Given the description of an element on the screen output the (x, y) to click on. 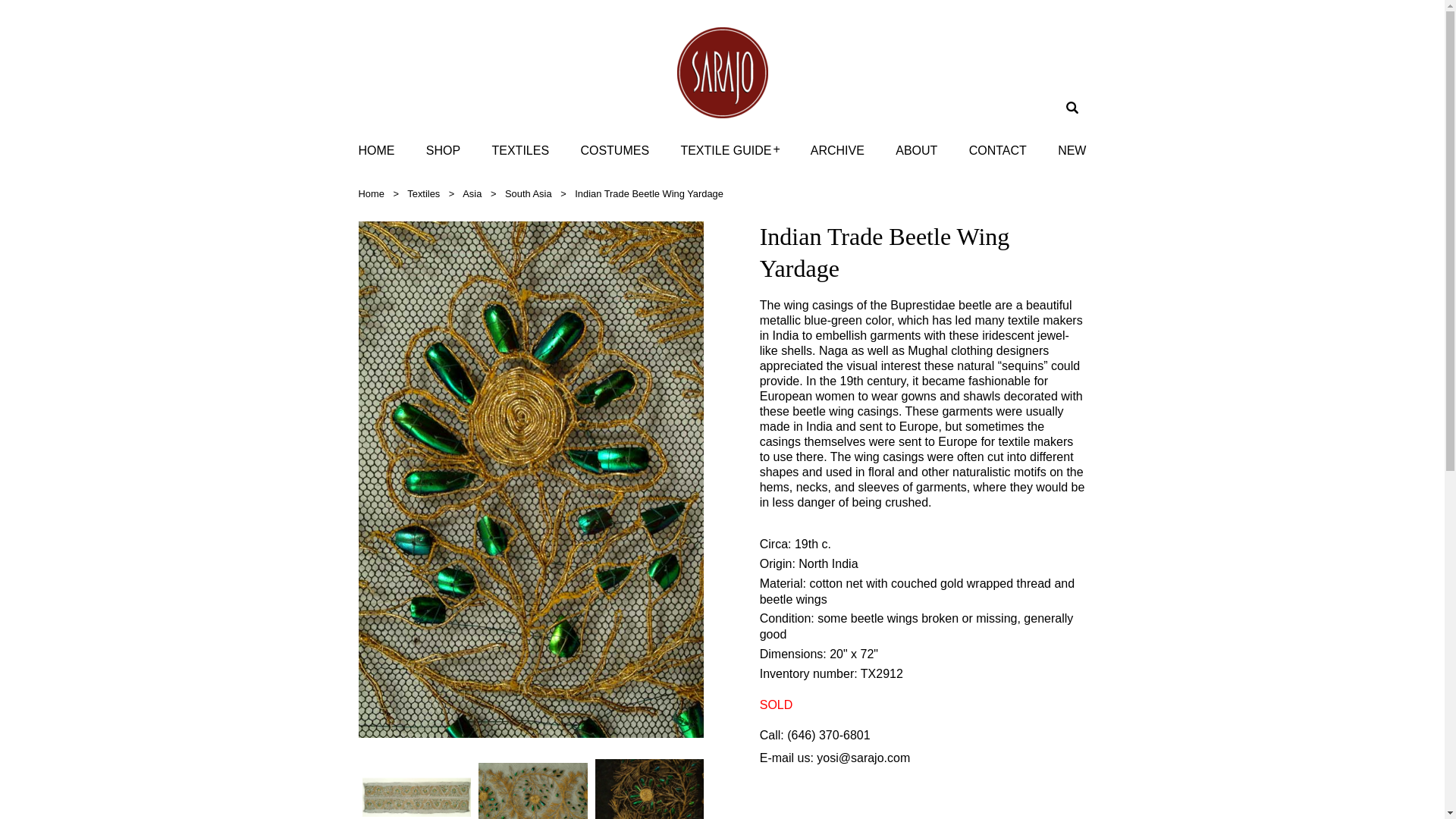
NEW (1072, 150)
Asia (472, 193)
SHOP (443, 150)
Search (22, 9)
HOME (376, 150)
South Asia (528, 193)
TEXTILE GUIDE (725, 150)
ABOUT (916, 150)
TEXTILES (520, 150)
Search for: (1074, 107)
Textiles (423, 193)
ARCHIVE (837, 150)
CONTACT (997, 150)
Home (371, 193)
COSTUMES (614, 150)
